Given the description of an element on the screen output the (x, y) to click on. 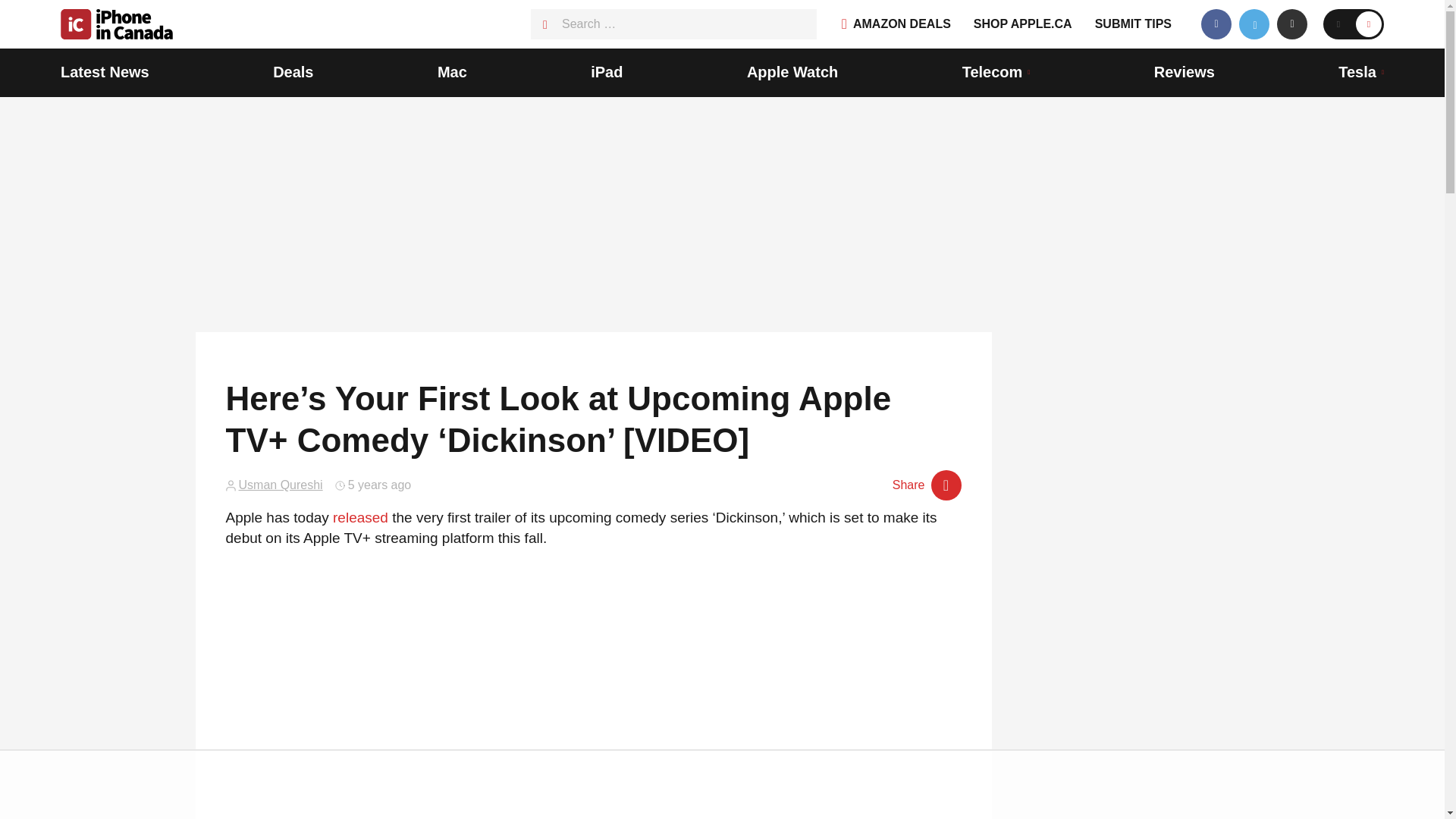
Latest News (105, 72)
AMAZON DEALS (895, 23)
Apple Watch (792, 72)
released (360, 517)
Share (926, 485)
SHOP APPLE.CA (1022, 23)
Search for: (673, 24)
Reviews (1184, 72)
SUBMIT TIPS (1133, 23)
Usman Qureshi (279, 484)
